Given the description of an element on the screen output the (x, y) to click on. 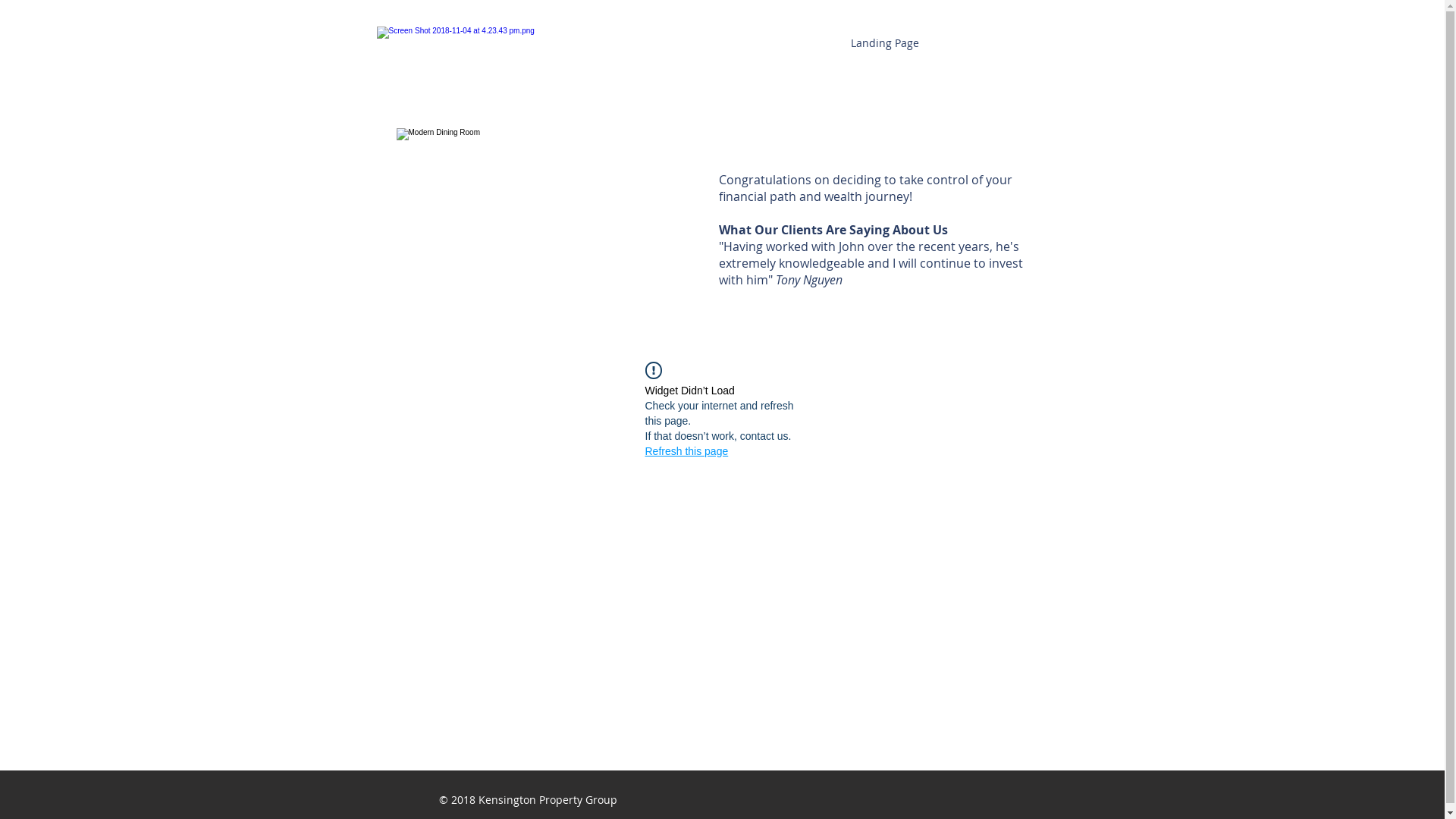
Landing Page Element type: text (885, 42)
Refresh this page Element type: text (686, 450)
